Given the description of an element on the screen output the (x, y) to click on. 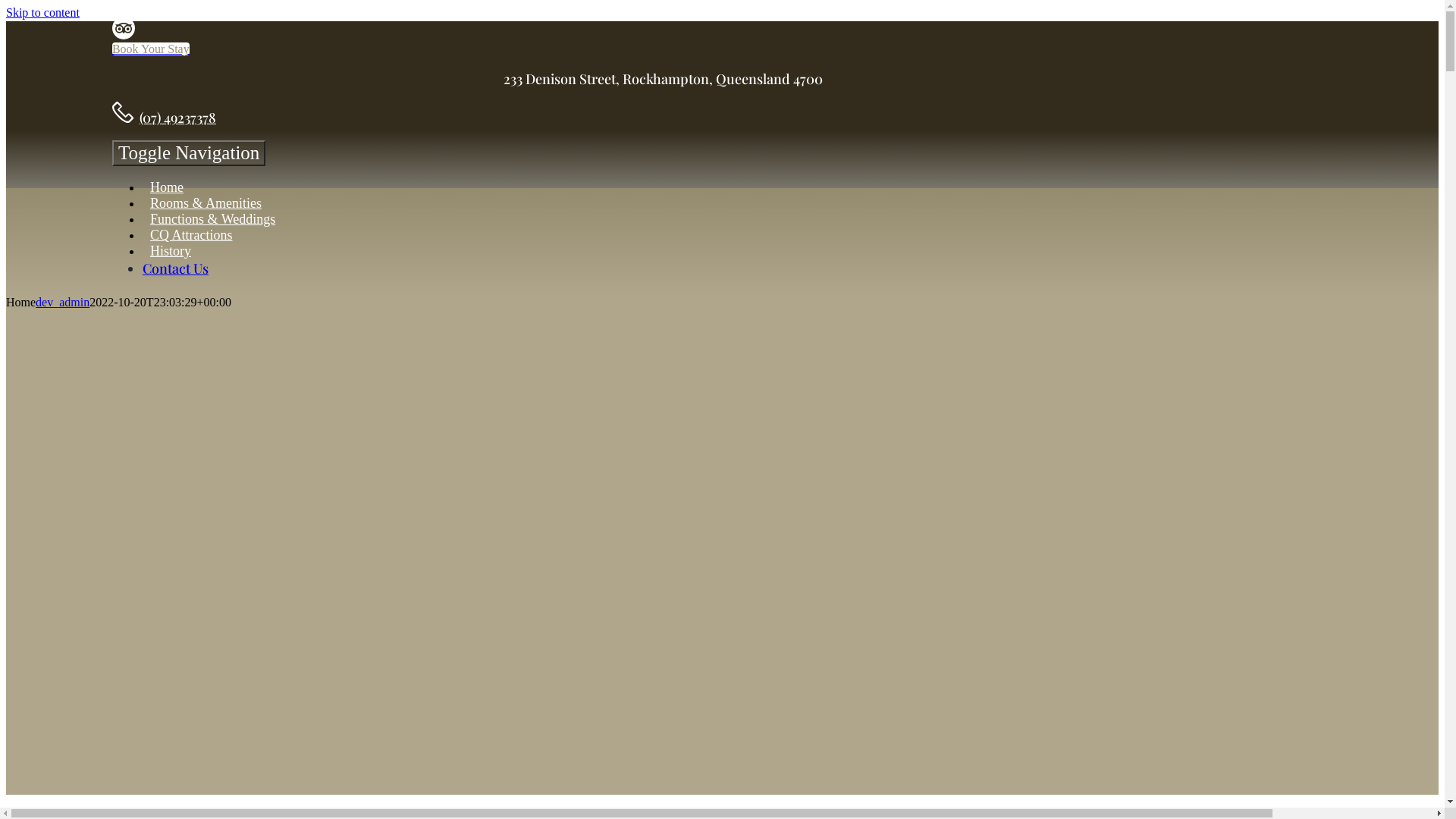
Book Your Stay Element type: text (150, 48)
Contact Us Element type: text (175, 268)
dev_admin Element type: text (62, 301)
Home Element type: text (166, 187)
Functions & Weddings Element type: text (212, 218)
CQ Attractions Element type: text (191, 234)
Rooms & Amenities Element type: text (205, 202)
Skip to content Element type: text (42, 12)
History Element type: text (170, 250)
(07) 49237378 Element type: text (177, 117)
Toggle Navigation Element type: text (188, 153)
TripAdvisor Element type: hover (123, 34)
